Given the description of an element on the screen output the (x, y) to click on. 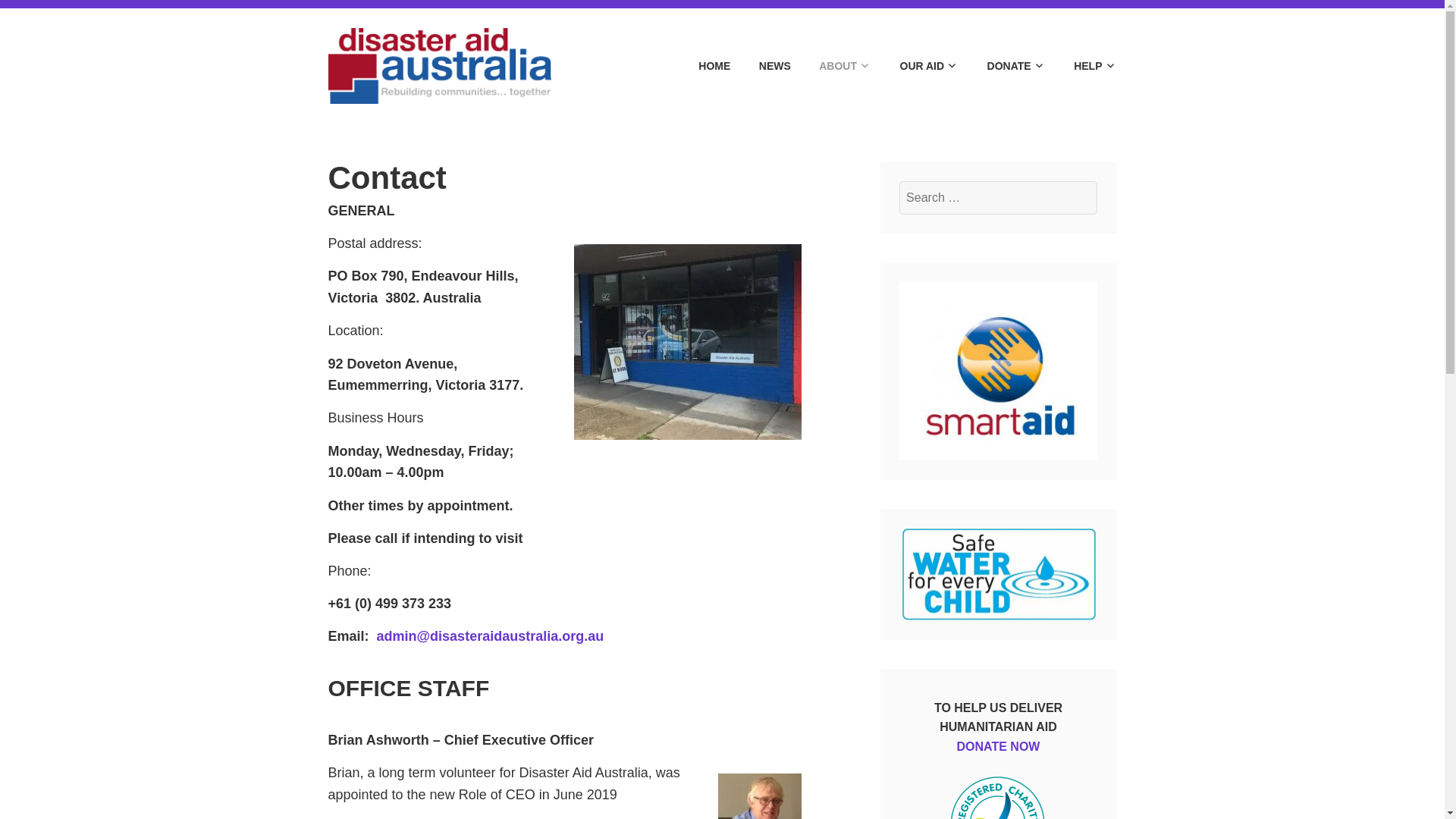
HOME (701, 65)
DONATE (1002, 65)
NEWS (761, 65)
OUR AID (916, 65)
DISASTER AID AUSTRALIA (767, 43)
ABOUT (831, 65)
